Given the description of an element on the screen output the (x, y) to click on. 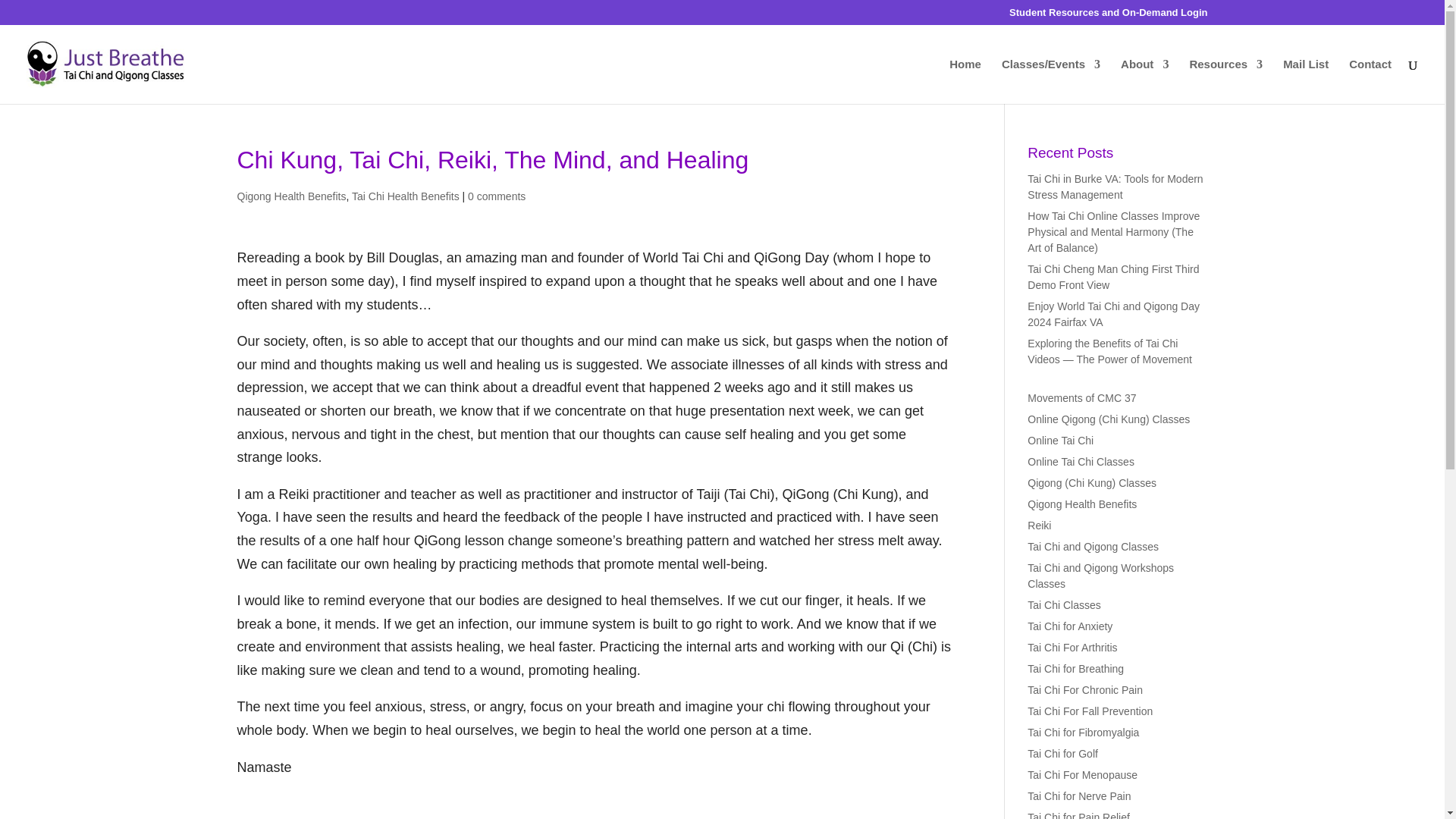
Student Resources and On-Demand Login (1108, 16)
Mail List (1304, 81)
Resources (1225, 81)
About (1145, 81)
Home (965, 81)
Contact (1370, 81)
